Given the description of an element on the screen output the (x, y) to click on. 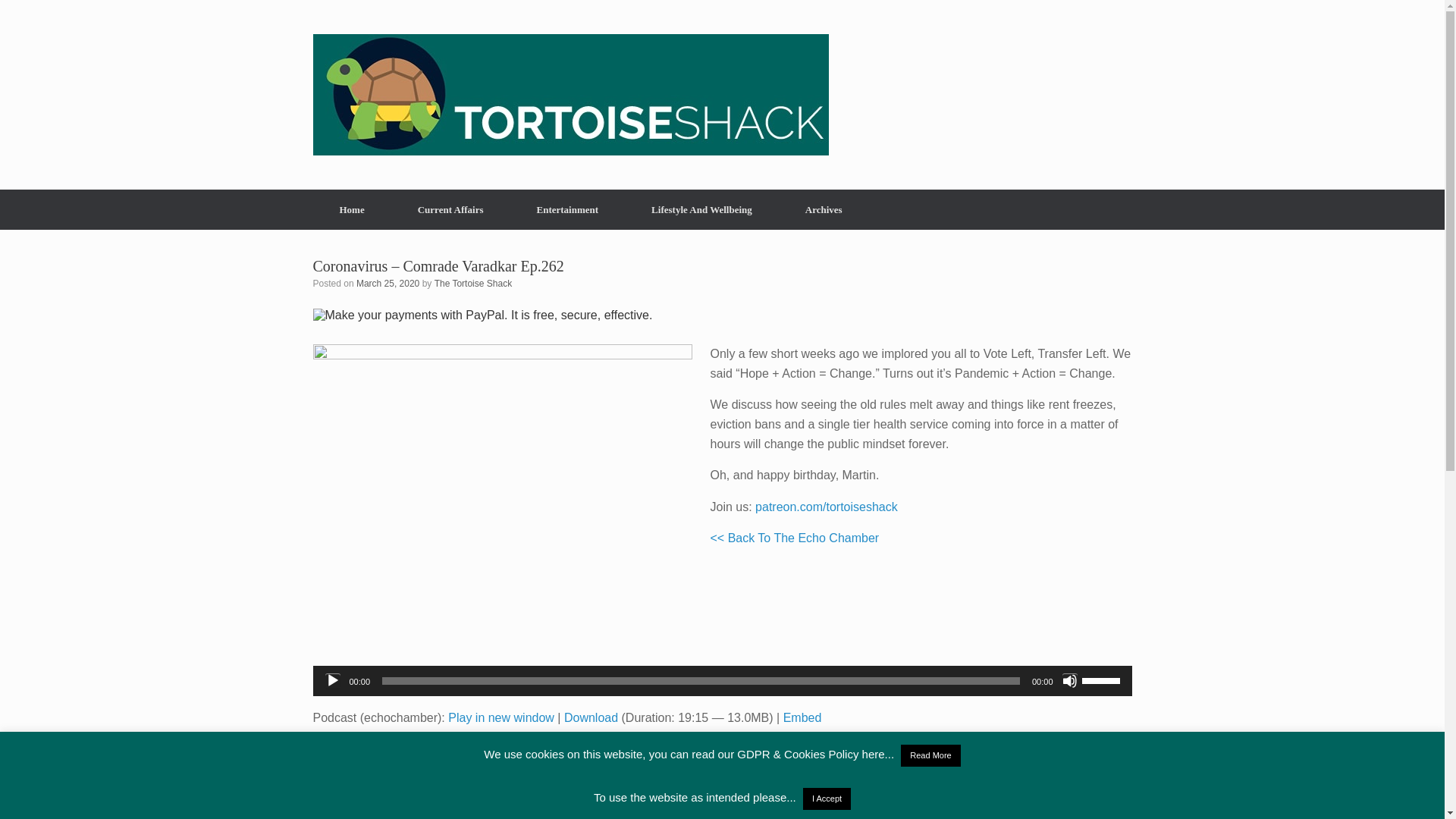
Entertainment (566, 209)
Play in new window (501, 717)
Mute (1069, 680)
Download (590, 717)
Email (528, 748)
Subscribe on Spotify (485, 748)
Tortoise Shack (570, 94)
Spotify (485, 748)
March 25, 2020 (387, 283)
RSS (566, 748)
Current Affairs (451, 209)
Subscribe via RSS (566, 748)
Subscribe on Apple Podcasts (414, 748)
Embed (802, 717)
Play in new window (501, 717)
